Given the description of an element on the screen output the (x, y) to click on. 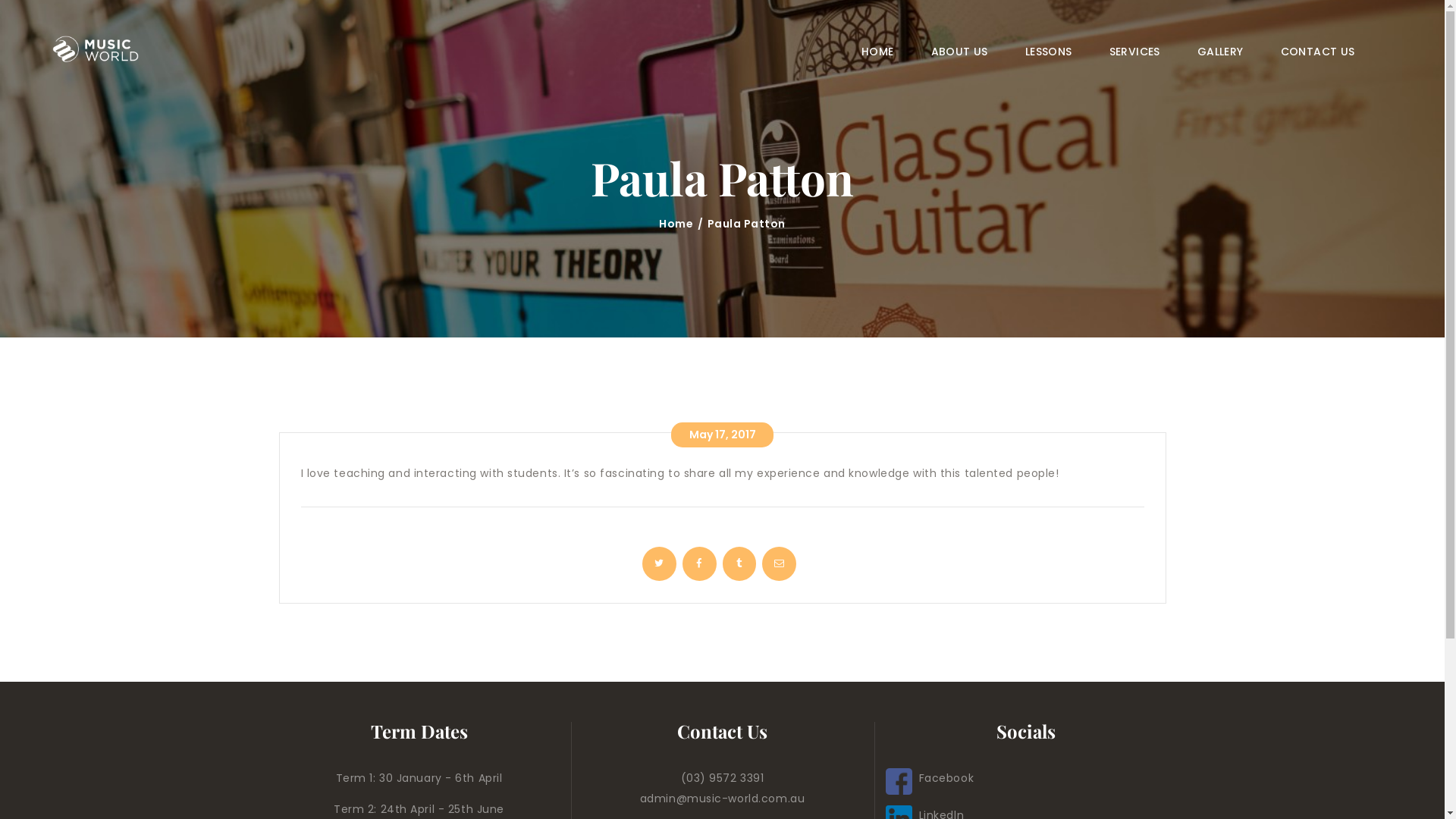
  Facebook Element type: text (929, 777)
May 17, 2017 Element type: text (722, 434)
SERVICES Element type: text (1134, 51)
LESSONS Element type: text (1048, 51)
GALLERY Element type: text (1219, 51)
HOME Element type: text (878, 51)
ABOUT US Element type: text (959, 51)
admin@music-world.com.au Element type: text (722, 798)
Home Element type: text (675, 223)
(03) 9572 3391 Element type: text (722, 777)
CONTACT US Element type: text (1317, 51)
